Given the description of an element on the screen output the (x, y) to click on. 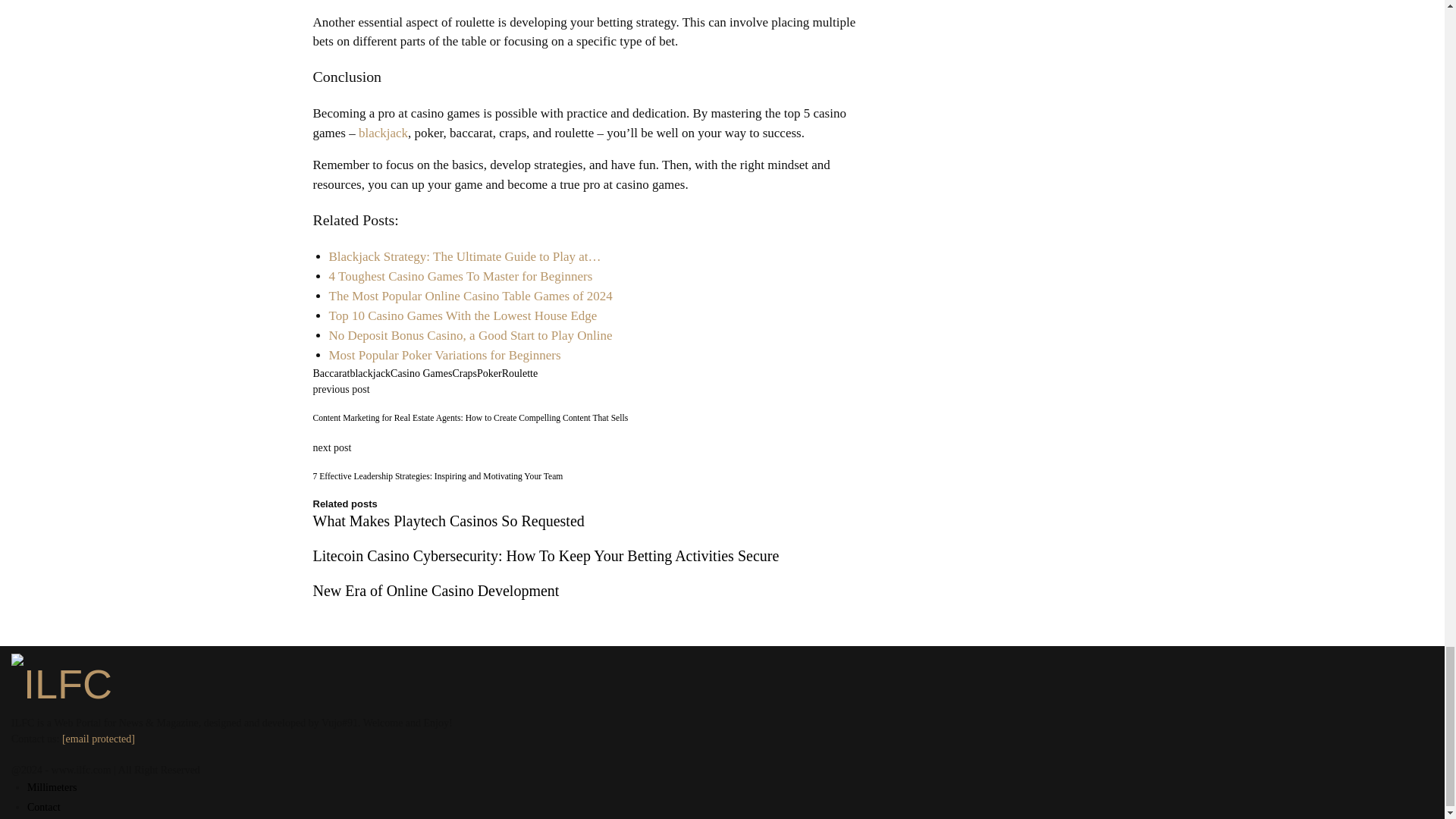
Poker (489, 373)
4 Toughest Casino Games To Master for Beginners (460, 276)
Casino Games (420, 373)
blackjack (369, 373)
blackjack (382, 133)
Top 10 Casino Games With the Lowest House Edge (462, 315)
The Most Popular Online Casino Table Games of 2024 (470, 296)
No Deposit Bonus Casino, a Good Start to Play Online (470, 335)
Craps (464, 373)
Most Popular Poker Variations for Beginners (444, 355)
Roulette (519, 373)
Baccarat (331, 373)
